Given the description of an element on the screen output the (x, y) to click on. 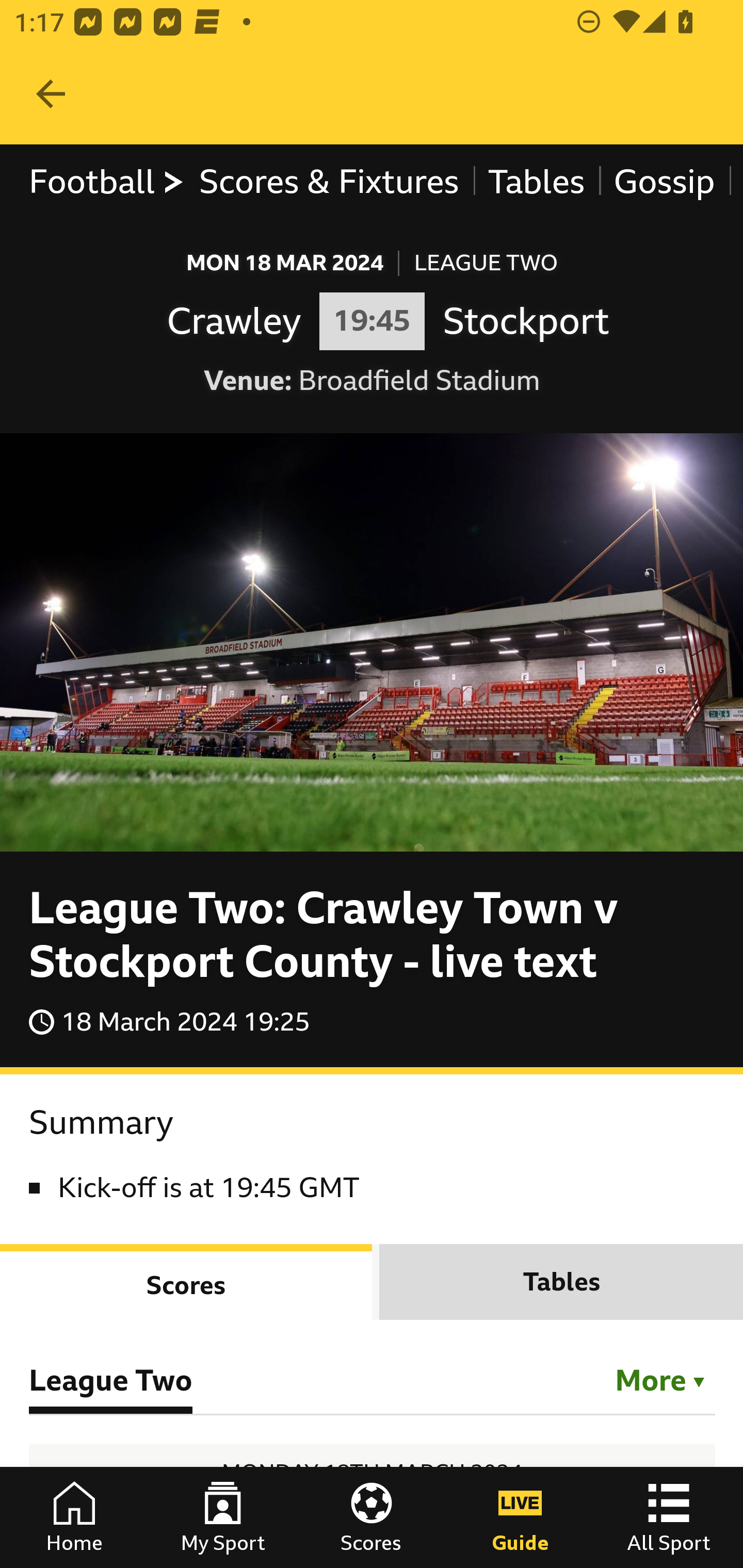
Navigate up (50, 93)
Football  (106, 181)
Scores & Fixtures (329, 181)
Tables (536, 181)
Gossip (664, 181)
Scores (186, 1281)
Tables (560, 1281)
Filter by section. Currently selected: League Two (650, 1377)
Home (74, 1517)
My Sport (222, 1517)
Scores (371, 1517)
All Sport (668, 1517)
